Given the description of an element on the screen output the (x, y) to click on. 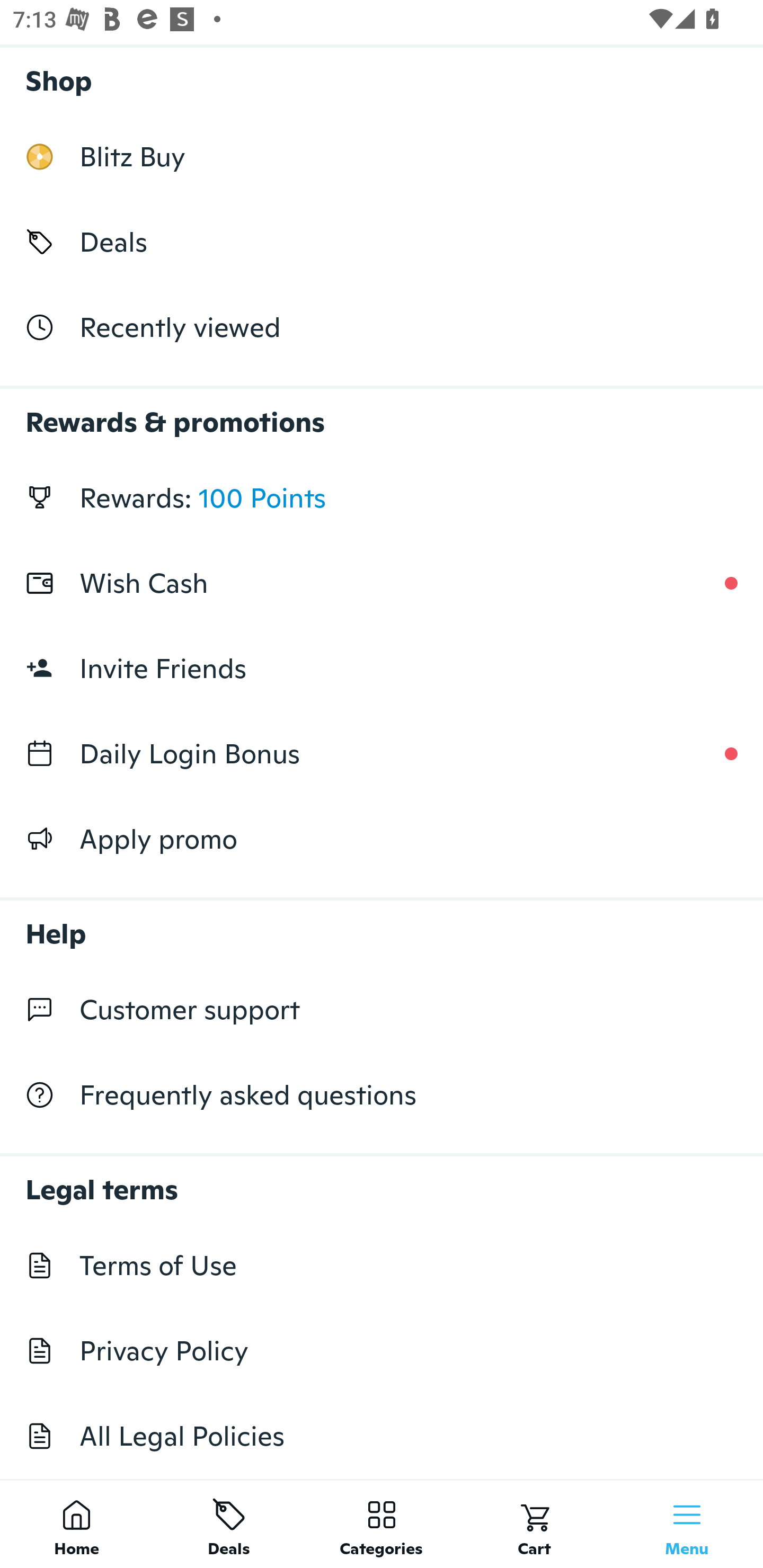
Shop (381, 75)
Blitz Buy (381, 156)
Deals (381, 242)
Recently viewed (381, 326)
Rewards & promotions (381, 413)
Rewards: 100 Points (381, 497)
Wish Cash (381, 582)
Invite Friends (381, 668)
Daily Login Bonus (381, 753)
Apply promo (381, 838)
Help (381, 924)
Customer support (381, 1009)
Frequently asked questions (381, 1095)
Legal terms (381, 1179)
Terms of Use (381, 1265)
Privacy Policy (381, 1350)
All Legal Policies (381, 1435)
Home (76, 1523)
Deals (228, 1523)
Categories (381, 1523)
Cart (533, 1523)
Menu (686, 1523)
